Given the description of an element on the screen output the (x, y) to click on. 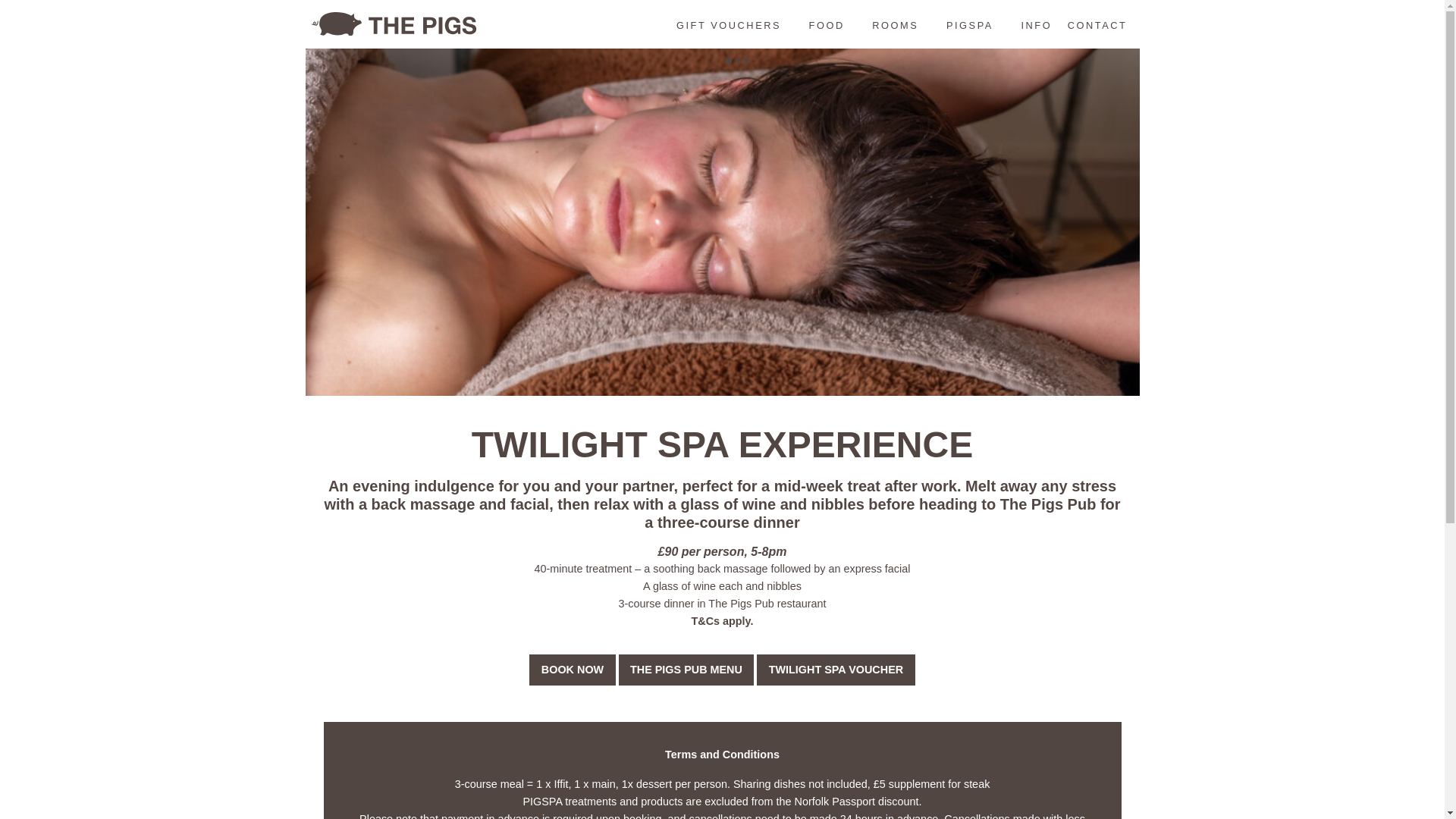
TWILIGHT SPA VOUCHER (835, 669)
GIFT VOUCHERS (728, 25)
CONTACT (1096, 25)
THE PIGS PUB MENU (686, 669)
BOOK NOW (571, 669)
ROOMS (895, 25)
INFO (1035, 25)
PIGSPA (969, 25)
FOOD (826, 25)
